Given the description of an element on the screen output the (x, y) to click on. 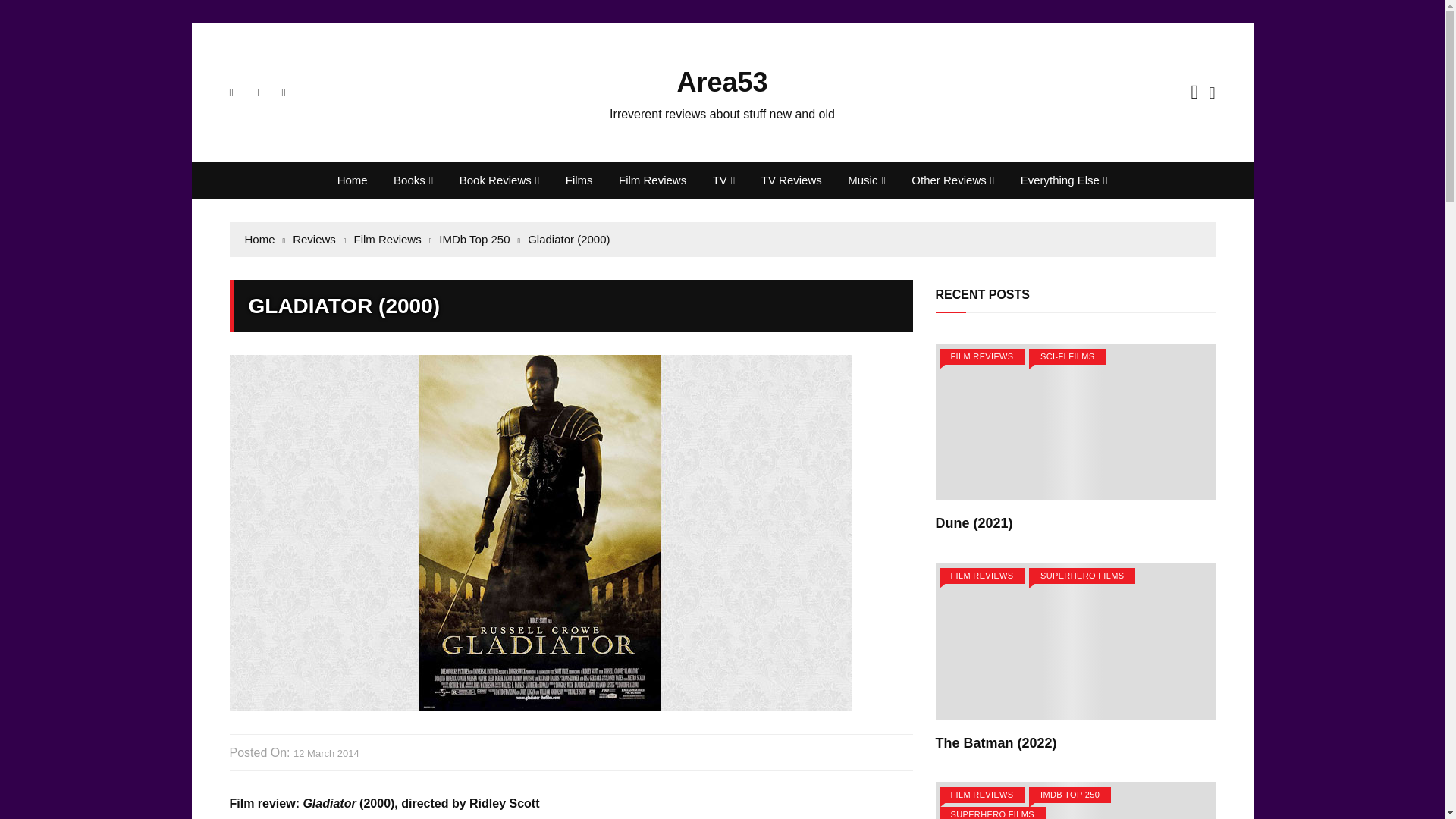
Home (352, 180)
Books (412, 180)
Other Reviews (952, 180)
Music (865, 180)
Films (579, 180)
TV (723, 180)
Film Reviews (652, 180)
Everything Else (1064, 180)
Area53 (722, 81)
Book Reviews (499, 180)
